Given the description of an element on the screen output the (x, y) to click on. 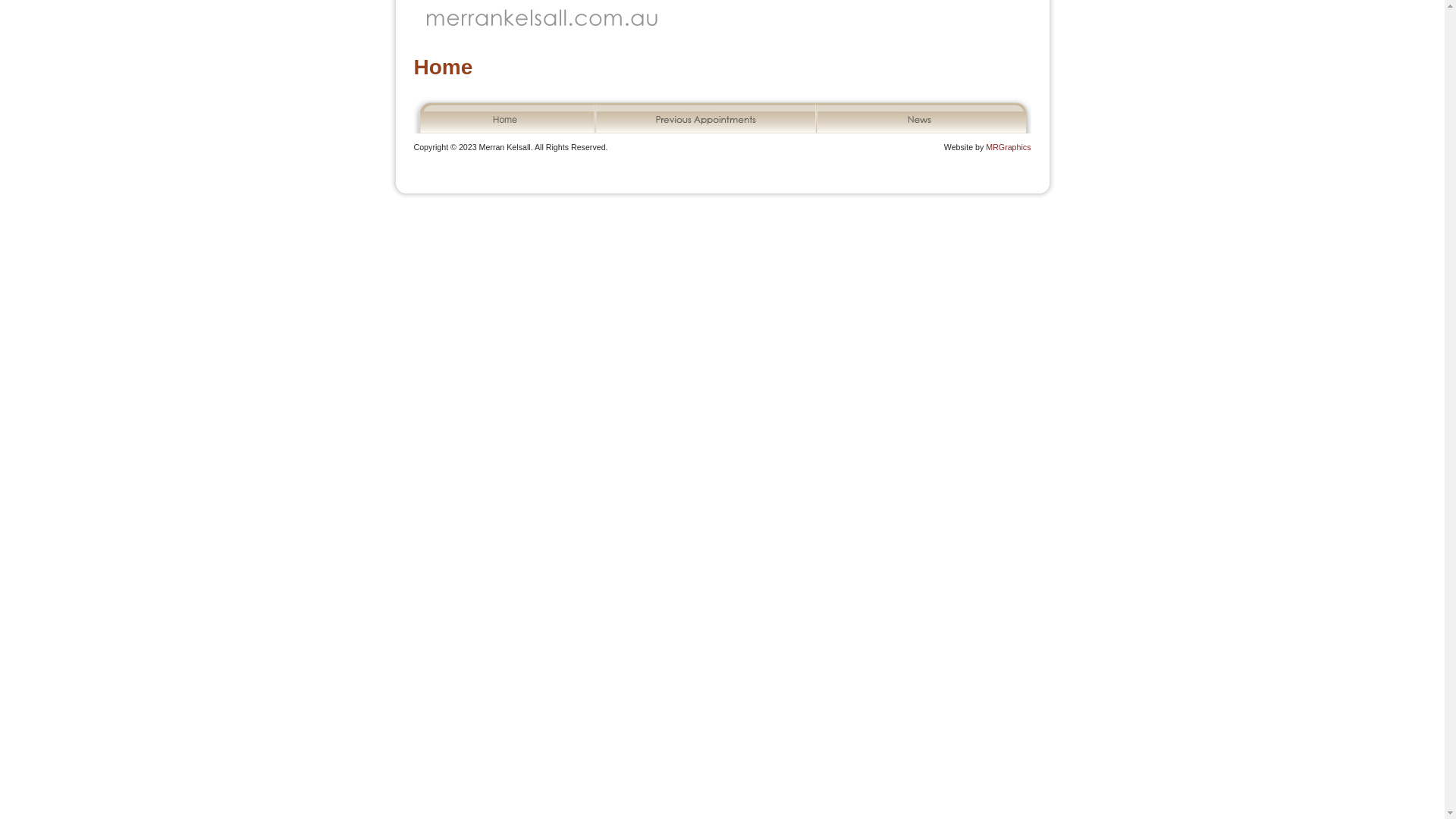
MRGraphics Element type: text (1007, 146)
